Given the description of an element on the screen output the (x, y) to click on. 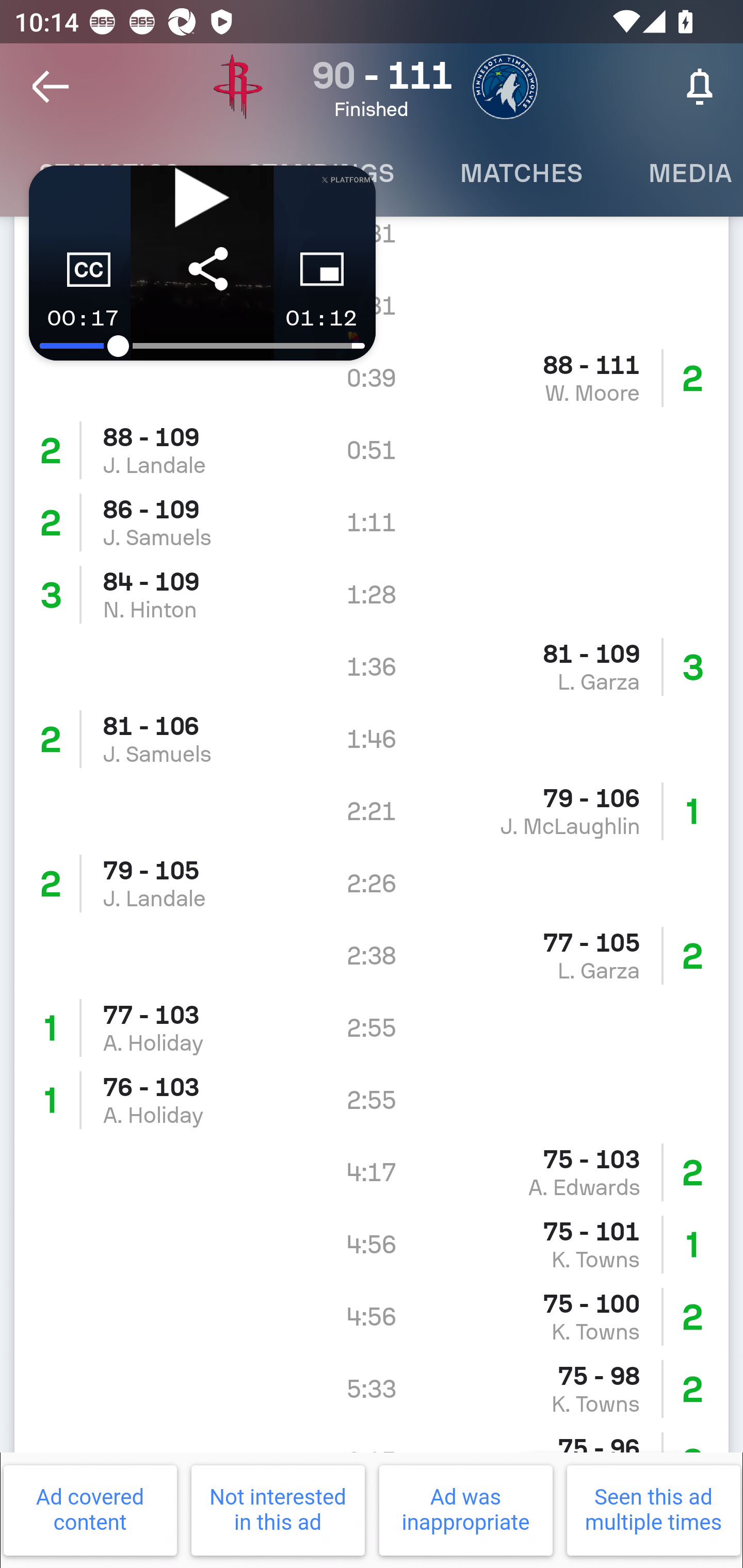
Navigate up (50, 86)
Matches MATCHES (520, 173)
Media MEDIA (679, 173)
111  -  88 W. Moore 0:39 (371, 377)
88  -  109 J. Landale 0:51 (371, 449)
86  -  109 J. Samuels 1:11 (371, 522)
84  -  109 N. Hinton 1:28 (371, 594)
109  -  81 L. Garza 1:36 (371, 666)
81  -  106 J. Samuels 1:46 (371, 738)
106  -  79 J. McLaughlin 2:21 (371, 810)
79  -  105 J. Landale 2:26 (371, 883)
105  -  77 L. Garza 2:38 (371, 956)
77  -  103 A. Holiday 2:55 (371, 1028)
76  -  103 A. Holiday 2:55 (371, 1100)
103  -  75 A. Edwards 4:17 (371, 1172)
101  -  75 K. Towns 4:56 (371, 1244)
100  -  75 K. Towns 4:56 (371, 1317)
98  -  75 K. Towns 5:33 (371, 1389)
